Given the description of an element on the screen output the (x, y) to click on. 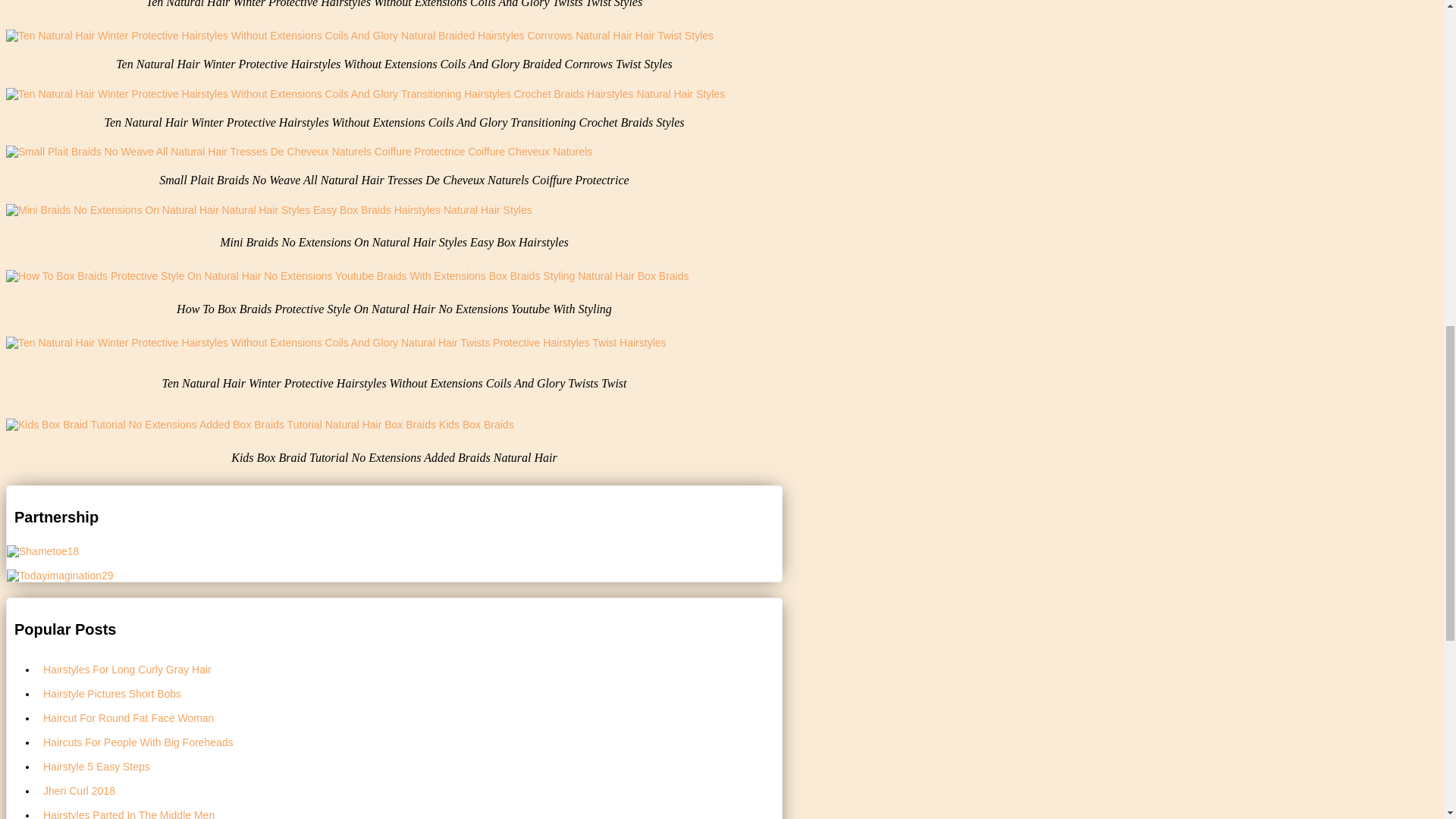
Todayimagination29 (60, 574)
Jheri Curl 2018 (409, 790)
Hairstyle Pictures Short Bobs (409, 692)
Haircuts For People With Big Foreheads (409, 741)
Hairstyles For Long Curly Gray Hair (409, 668)
Shametoe18 (42, 550)
Hairstyle 5 Easy Steps (409, 765)
Hairstyles Parted In The Middle Men (409, 810)
Haircut For Round Fat Face Woman (409, 717)
